Given the description of an element on the screen output the (x, y) to click on. 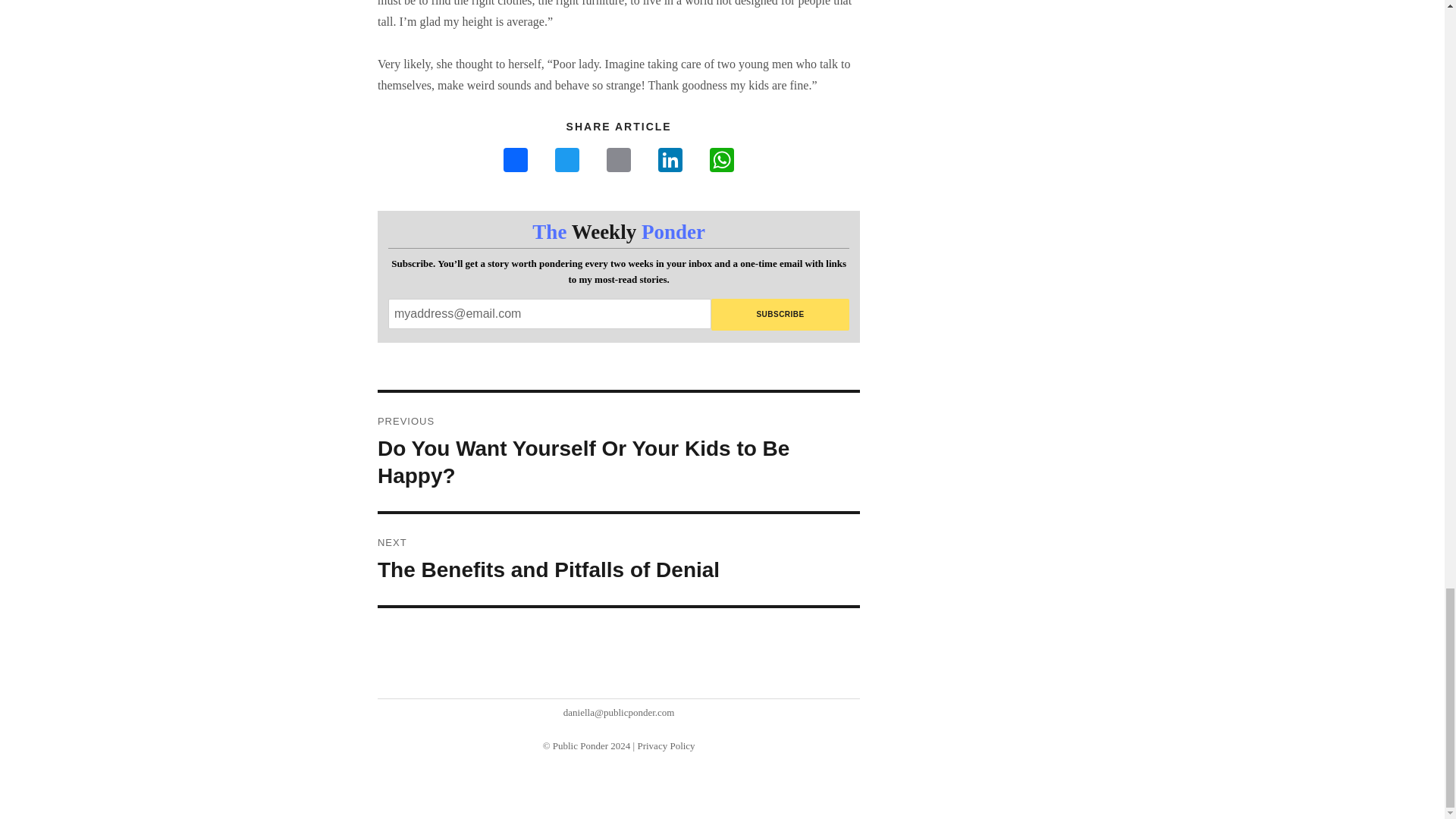
Twitter (566, 162)
Subscribe (780, 314)
WhatsApp (721, 162)
LinkedIn (670, 162)
Email (618, 162)
Email (618, 162)
Twitter (566, 162)
LinkedIn (670, 162)
WhatsApp (721, 162)
Facebook (515, 162)
Subscribe (618, 559)
Facebook (780, 314)
